Given the description of an element on the screen output the (x, y) to click on. 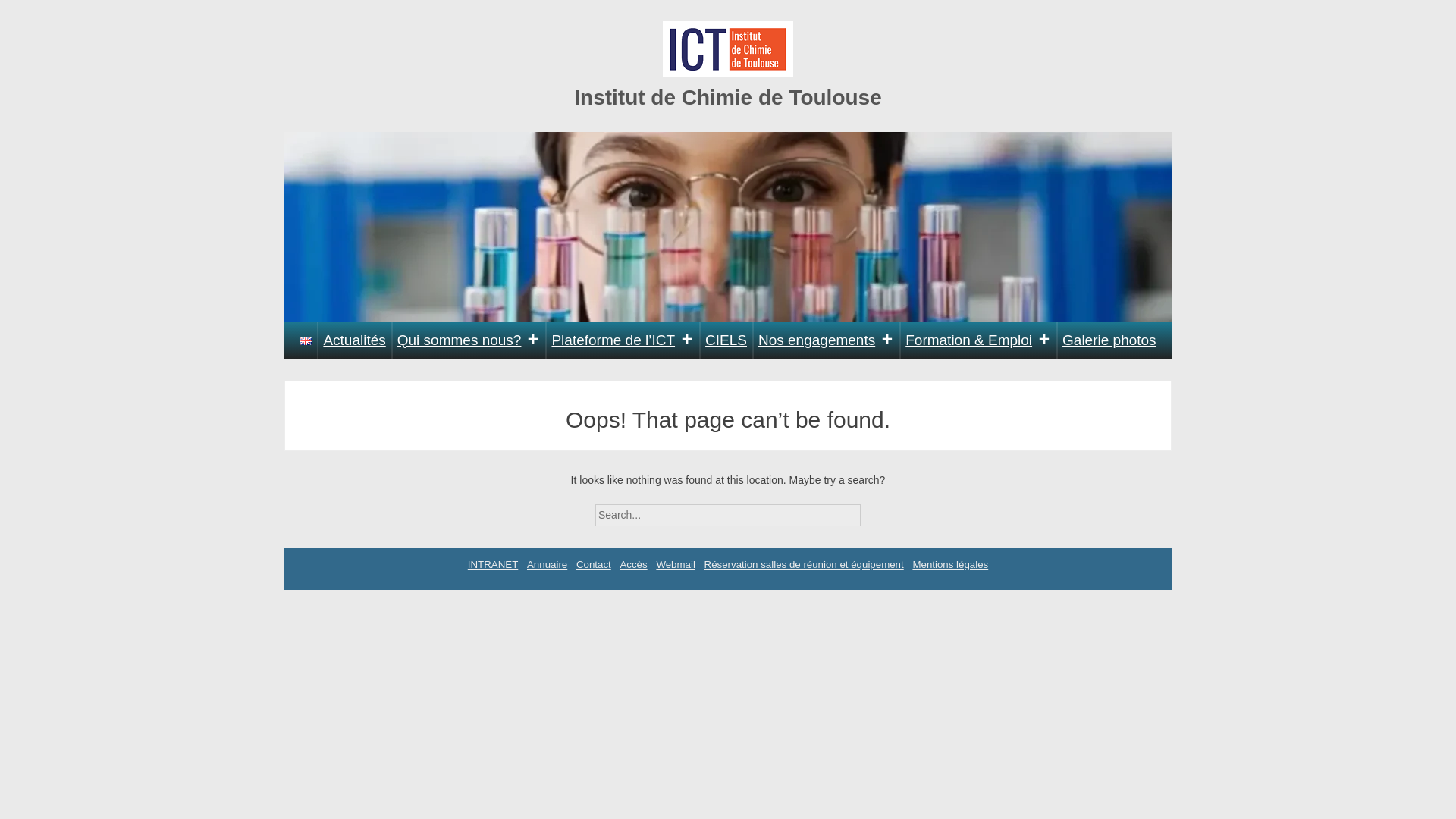
Search (873, 509)
CIELS (726, 340)
Qui sommes nous? (468, 340)
Nos engagements (825, 340)
Search (873, 509)
Institut de Chimie de Toulouse (727, 97)
